Given the description of an element on the screen output the (x, y) to click on. 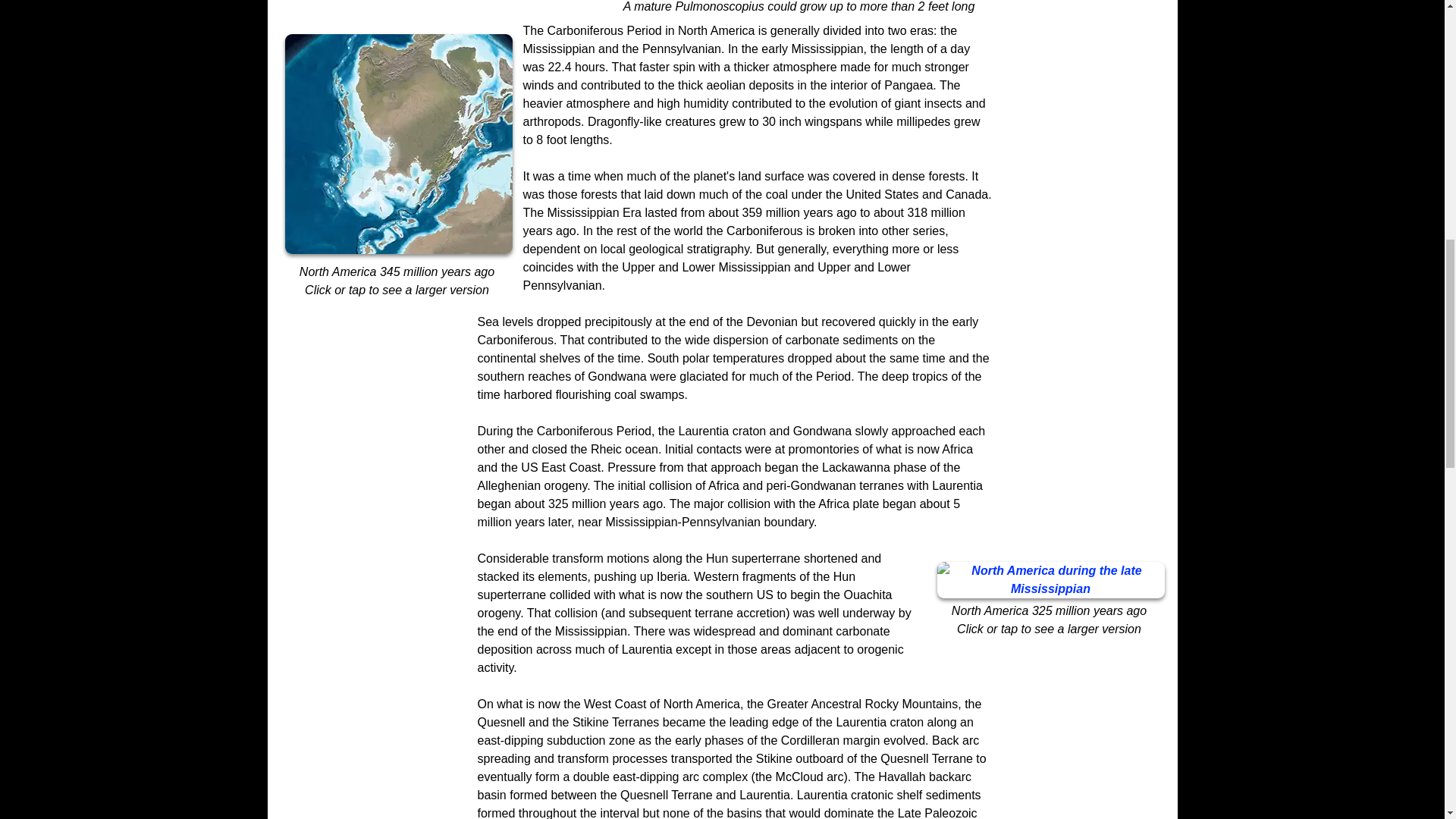
click or tap to see a larger version (398, 143)
click or tap to see a larger version (1050, 579)
